Given the description of an element on the screen output the (x, y) to click on. 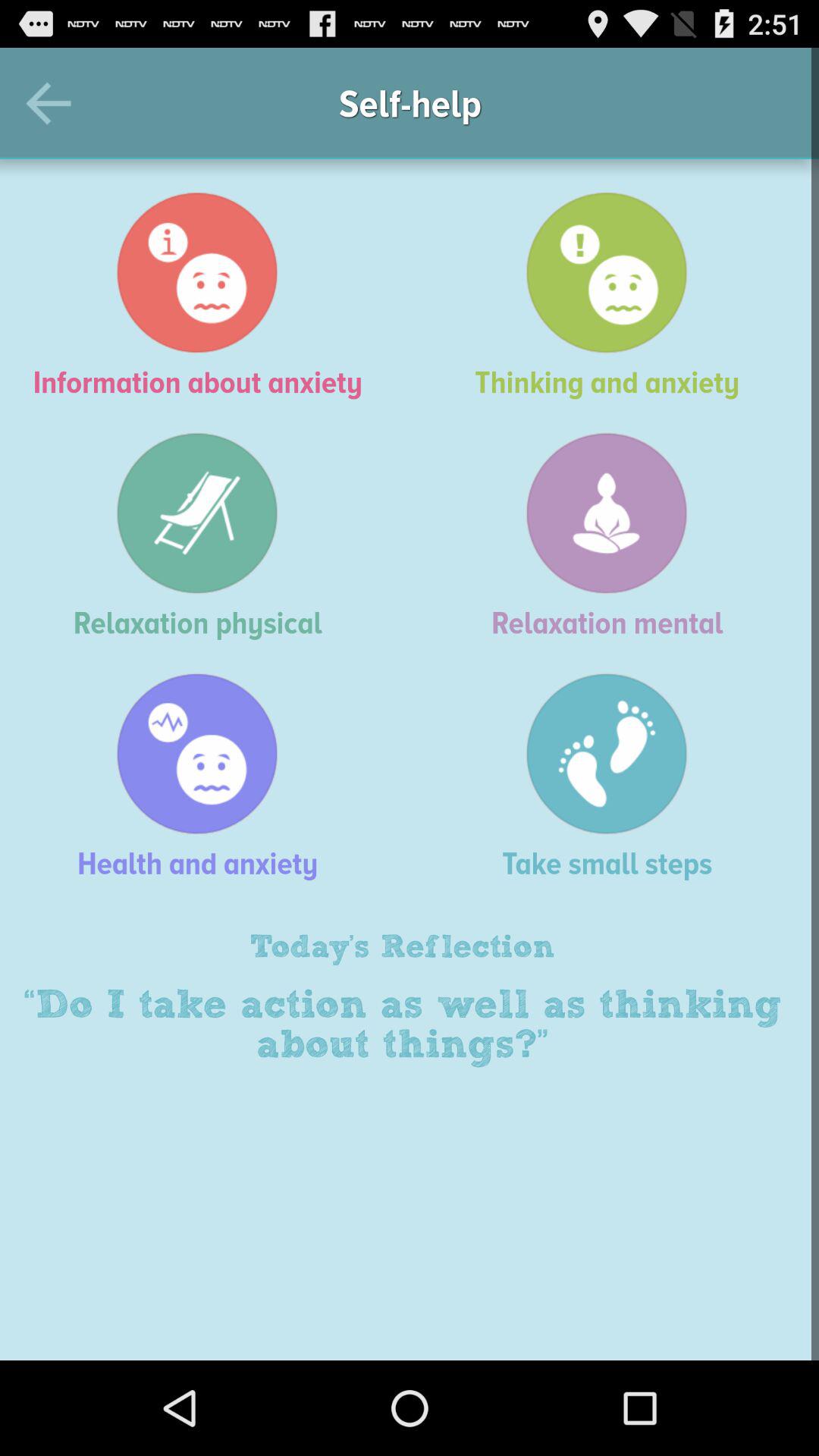
turn off relaxation mental item (614, 535)
